Given the description of an element on the screen output the (x, y) to click on. 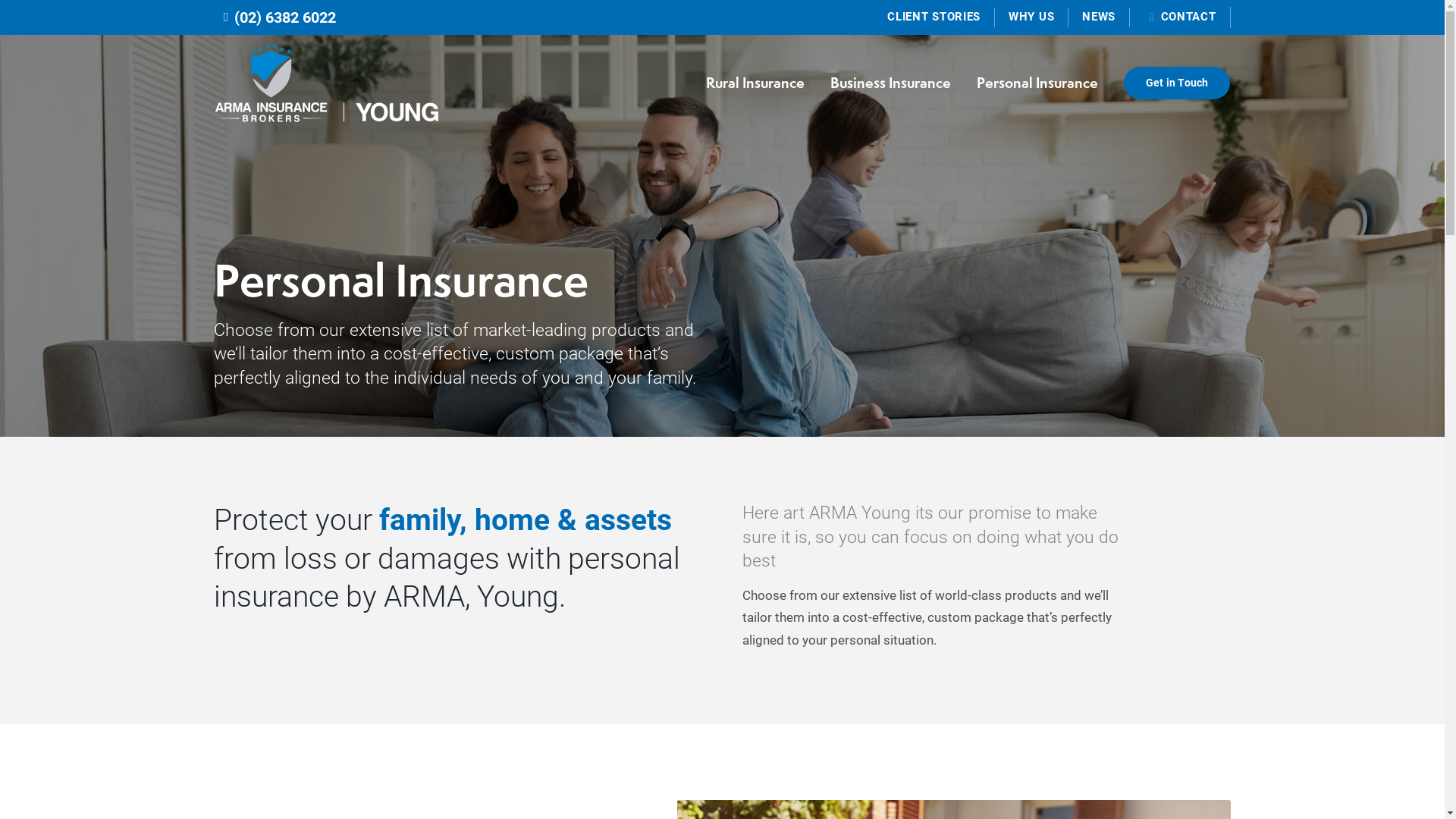
CONTACT Element type: text (1179, 17)
NEWS Element type: text (1098, 17)
WHY US Element type: text (1031, 17)
CLIENT STORIES Element type: text (933, 17)
Rural Insurance Element type: text (755, 82)
Business Insurance Element type: text (890, 82)
Get in Touch Element type: text (1176, 82)
(02) 6382 6022 Element type: text (276, 17)
Personal Insurance Element type: text (1037, 82)
